Given the description of an element on the screen output the (x, y) to click on. 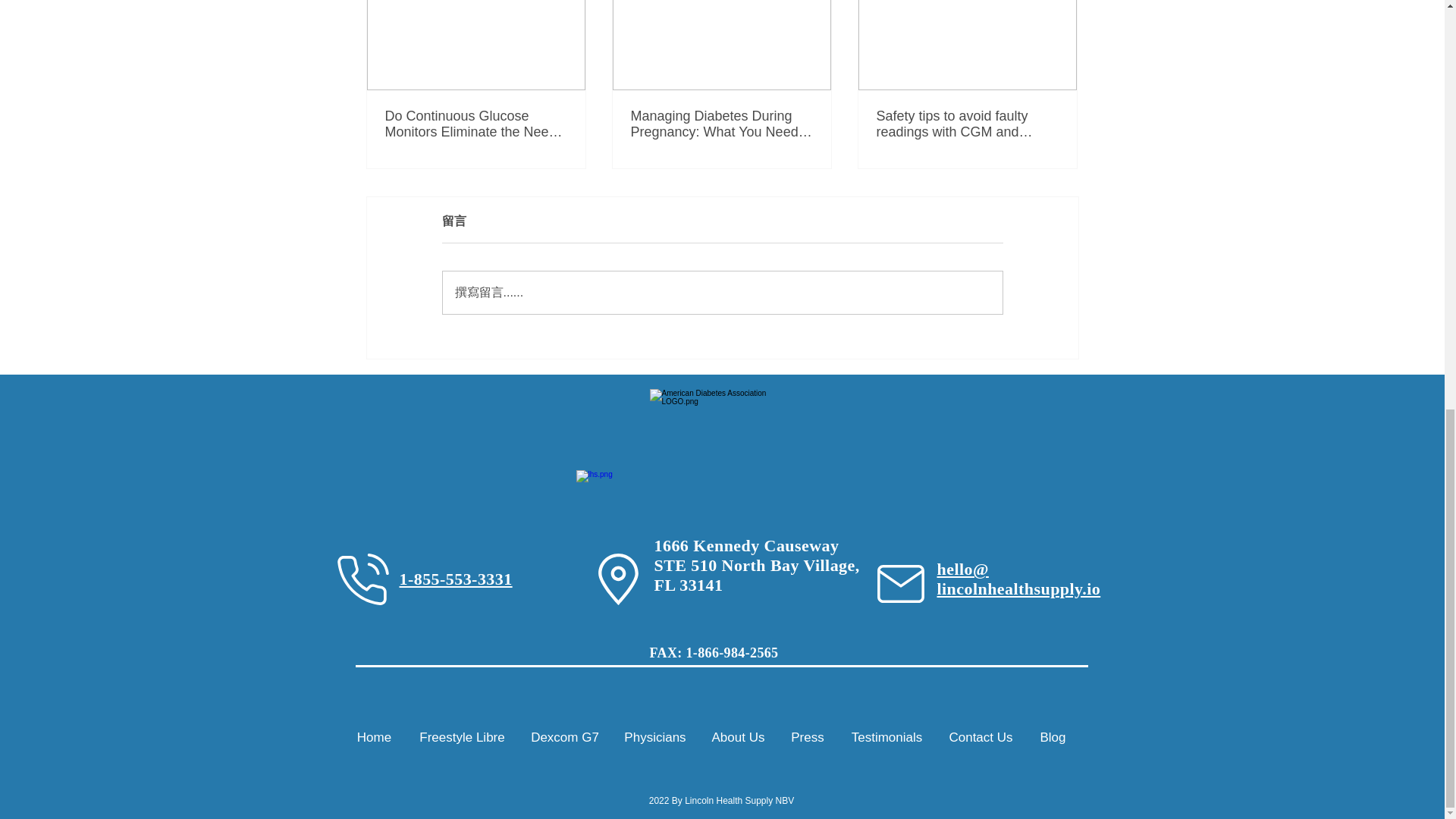
1-855-553-3331 (455, 578)
About Us (737, 737)
Physicians (654, 737)
Managing Diabetes During Pregnancy: What You Need to Know? (721, 124)
Press (807, 737)
Freestyle Libre (462, 737)
Home (374, 737)
Dexcom G7 (564, 737)
